Given the description of an element on the screen output the (x, y) to click on. 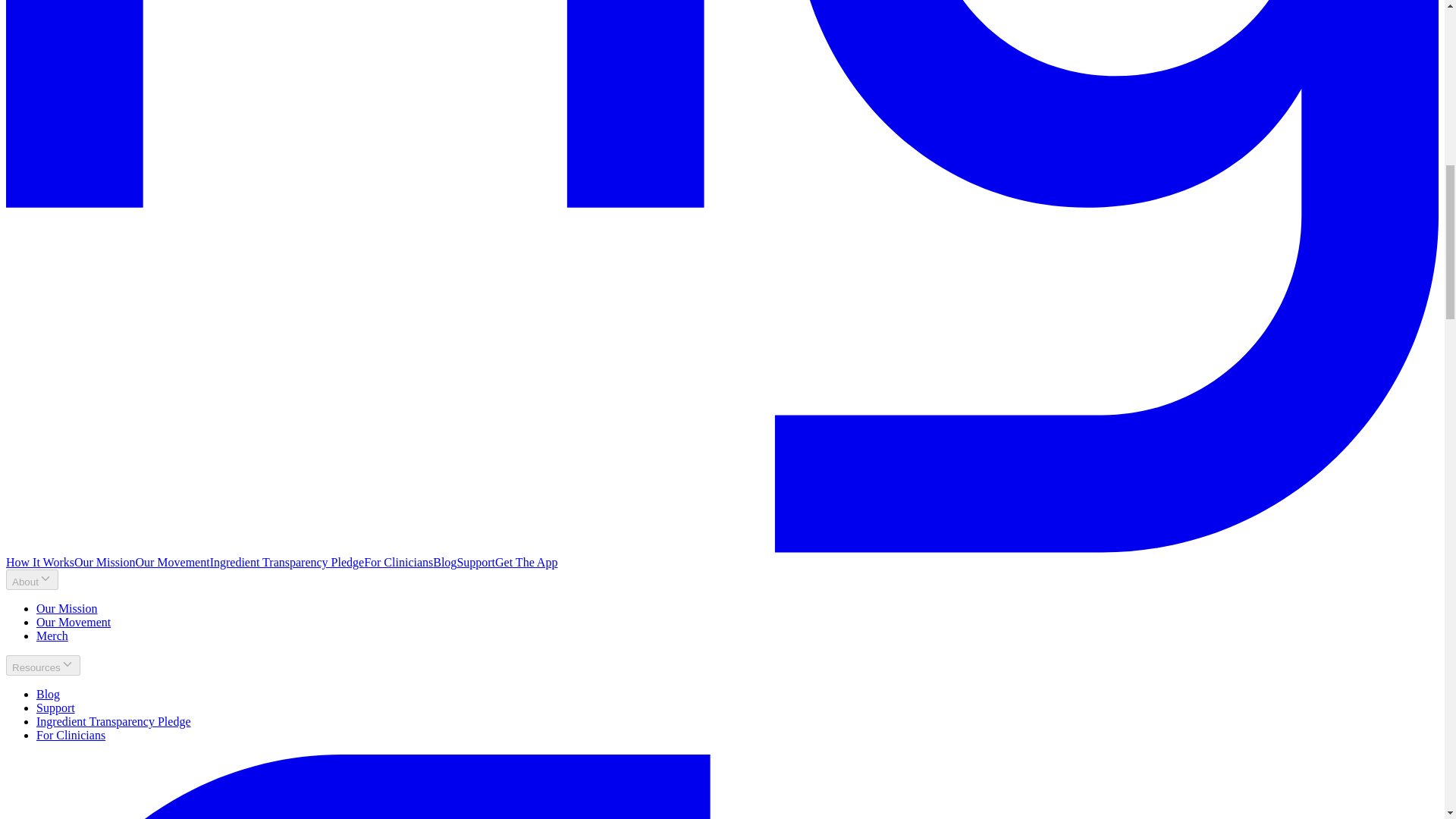
Resources (42, 665)
Ingredient Transparency Pledge (113, 721)
Blog (47, 694)
Blog (444, 562)
About (31, 579)
Ingredient Transparency Pledge (287, 562)
For Clinicians (70, 735)
Our Movement (73, 621)
Blog (47, 694)
Get The App (526, 562)
How It Works (39, 562)
Our Movement (172, 562)
For Clinicians (70, 735)
Support (476, 562)
Merch (52, 635)
